Given the description of an element on the screen output the (x, y) to click on. 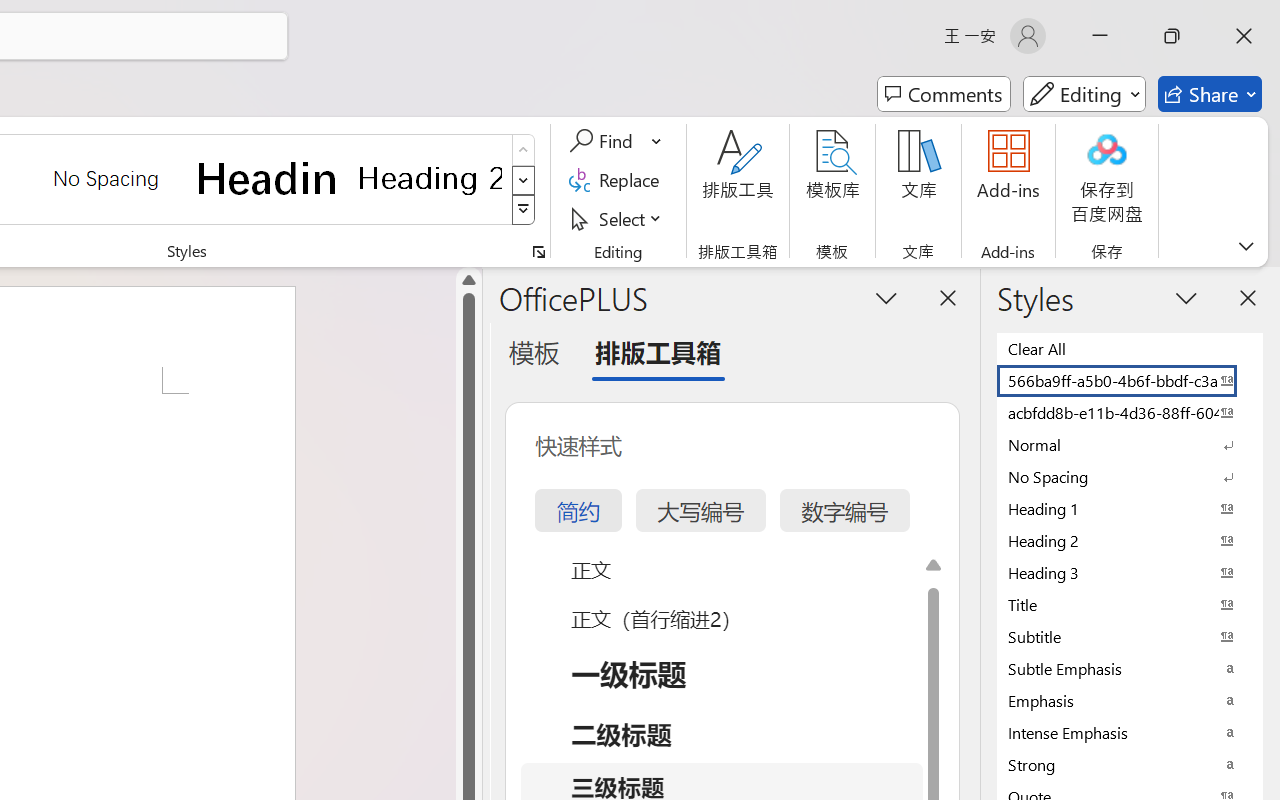
Heading 3 (1130, 572)
Styles (523, 209)
Ribbon Display Options (1246, 245)
More Options (657, 141)
No Spacing (1130, 476)
Subtitle (1130, 636)
Share (1210, 94)
Replace... (617, 179)
